Given the description of an element on the screen output the (x, y) to click on. 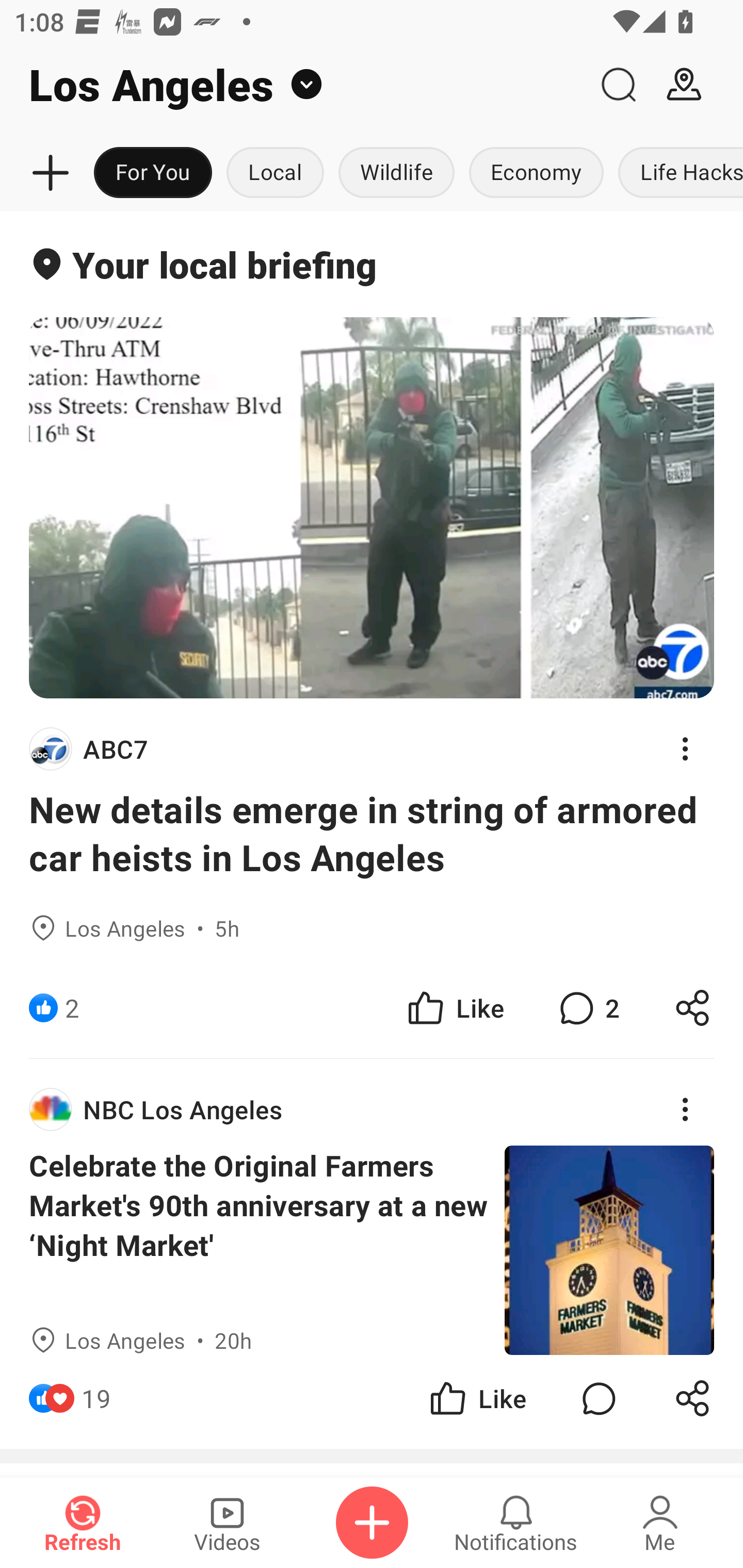
Los Angeles (292, 84)
For You (152, 172)
Local (275, 172)
Wildlife (396, 172)
Economy (536, 172)
Life Hacks (676, 172)
2 (72, 1007)
Like (454, 1007)
2 (587, 1007)
19 (95, 1397)
Like (476, 1397)
Videos (227, 1522)
Notifications (516, 1522)
Me (659, 1522)
